Given the description of an element on the screen output the (x, y) to click on. 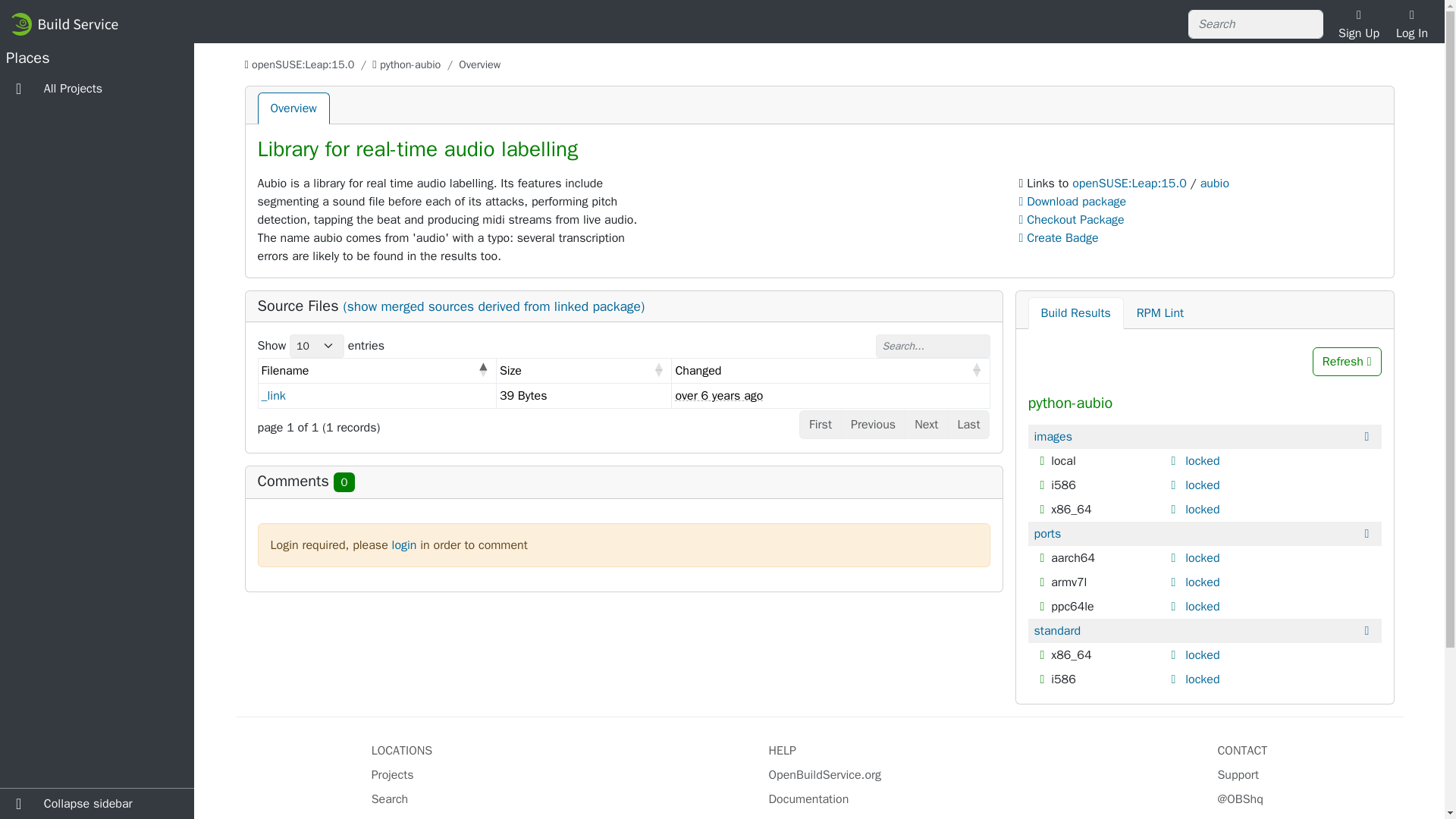
All Projects (96, 88)
locked (1202, 460)
Create Badge (1059, 237)
Download package (1075, 201)
locked (1202, 557)
locked (1202, 485)
aubio (1213, 183)
aubio (1213, 183)
RPM Lint (1160, 313)
locked (1202, 581)
locked (1202, 654)
python-aubio (410, 64)
standard (1057, 630)
Collapse sidebar (96, 803)
Click to keep it open (1175, 460)
